Given the description of an element on the screen output the (x, y) to click on. 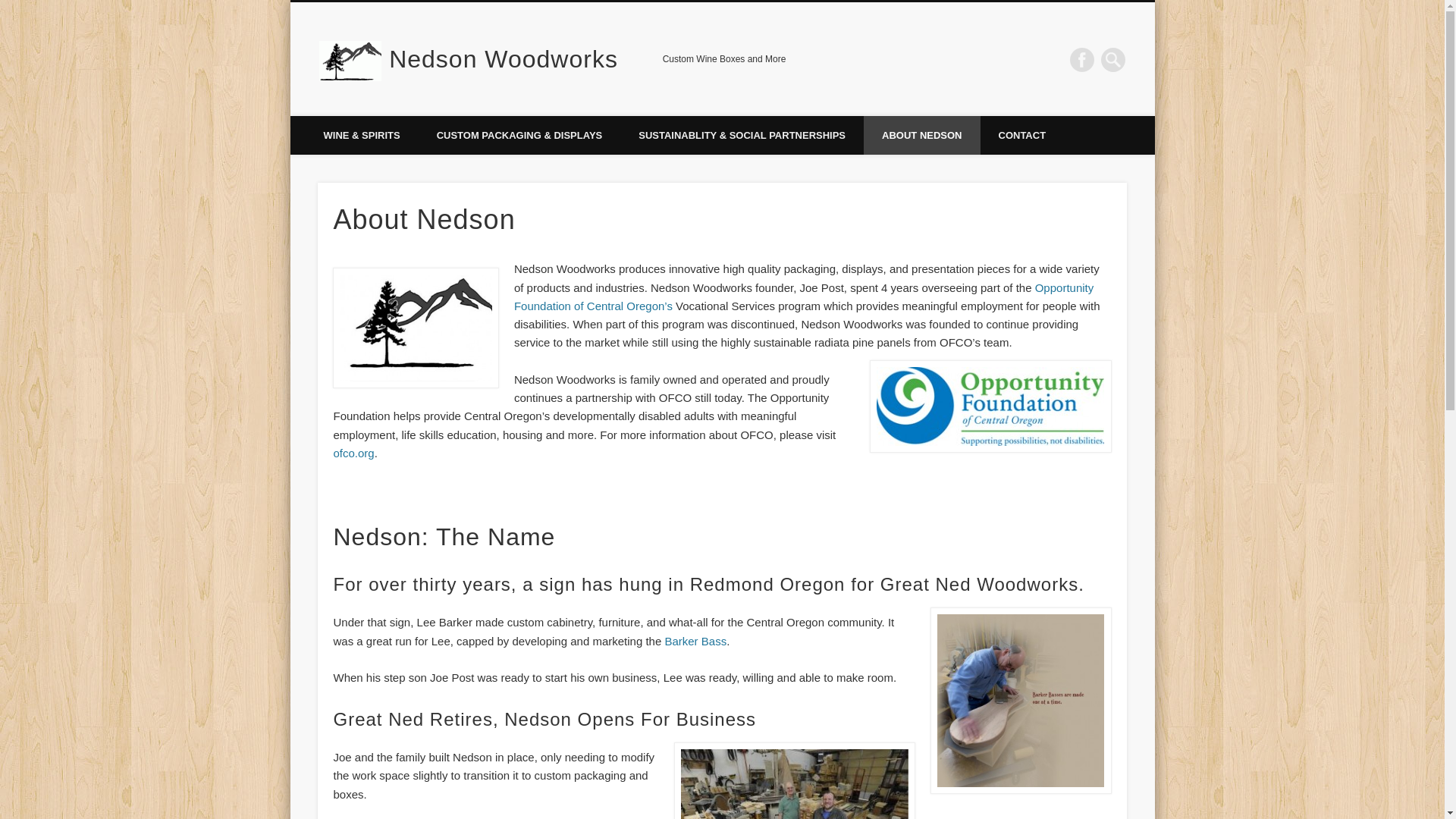
CONTACT (1021, 135)
Barker Bass (694, 640)
Nedson Woodworks (502, 58)
Facebook (1082, 59)
ofco.org (353, 452)
Search (11, 7)
ABOUT NEDSON (921, 135)
